Given the description of an element on the screen output the (x, y) to click on. 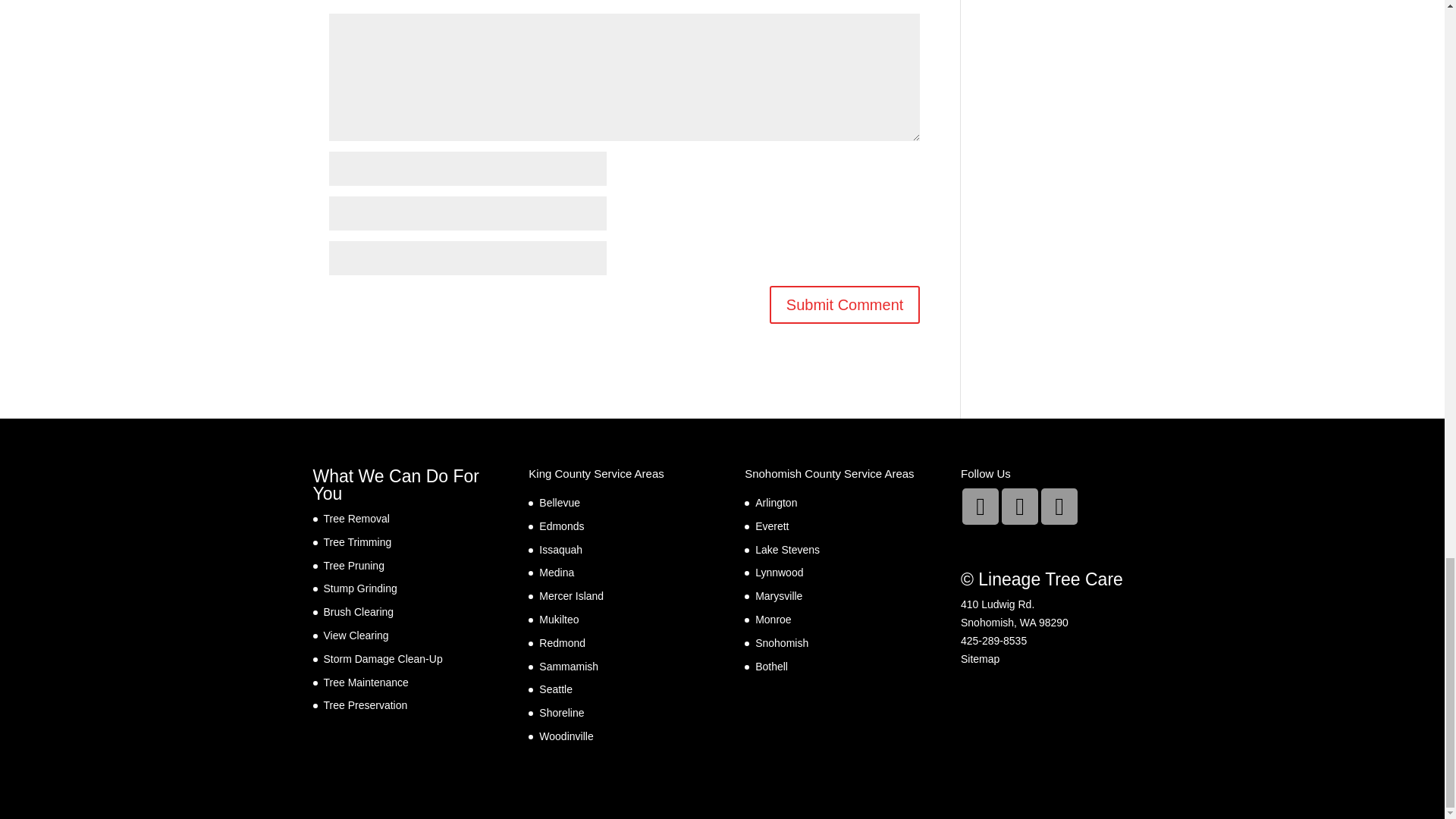
Stump Grinding (359, 588)
Storm Damage Clean-Up (382, 658)
Tree Maintenance (365, 682)
Instagram (980, 506)
Tree Trimming (357, 541)
Submit Comment (845, 304)
View Clearing (355, 635)
Facebook (1019, 506)
Submit Comment (845, 304)
Tree Removal (355, 518)
Tree Pruning (353, 565)
Brush Clearing (358, 612)
